Given the description of an element on the screen output the (x, y) to click on. 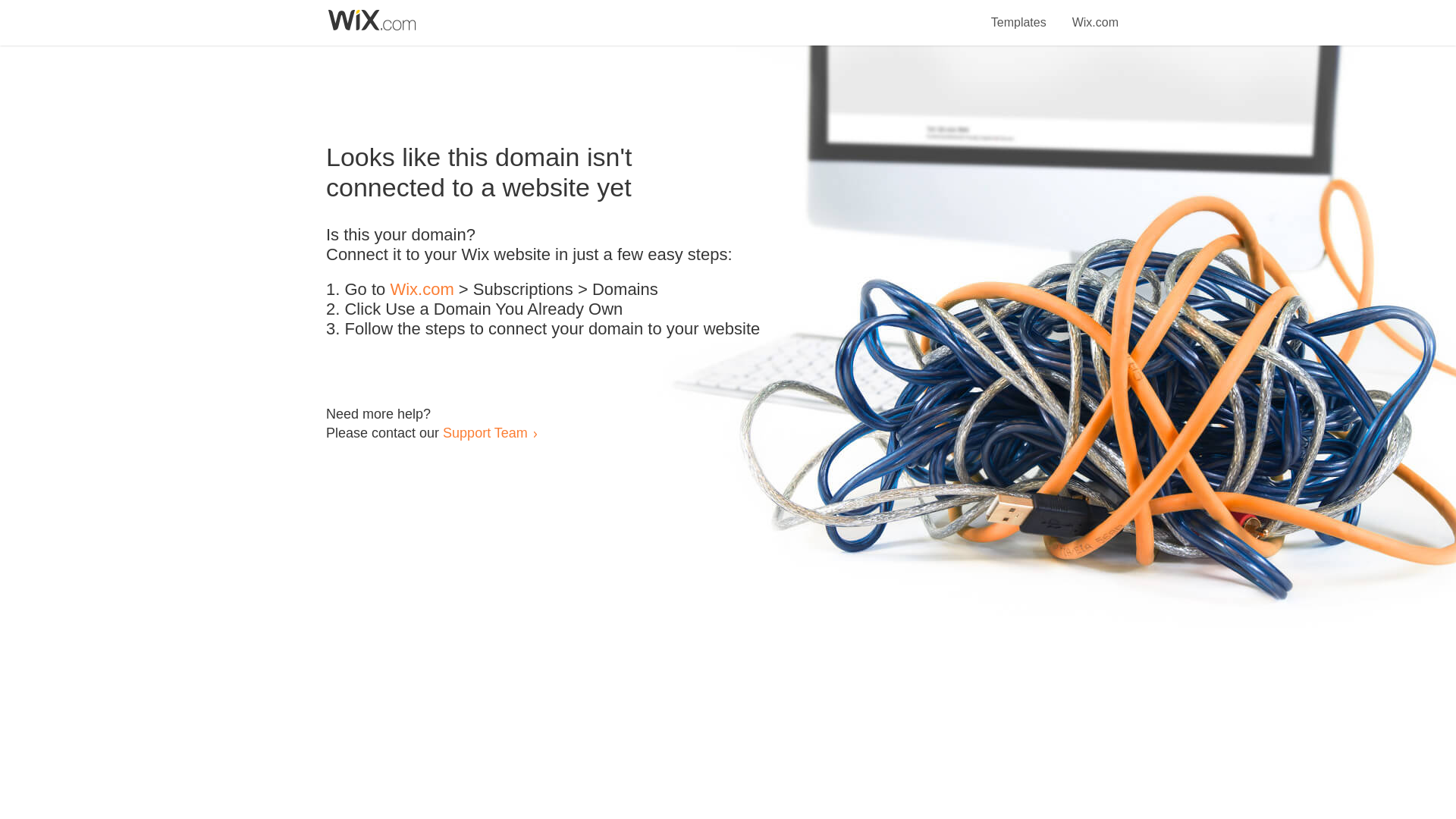
Wix.com (1095, 14)
Templates (1018, 14)
Wix.com (421, 289)
Support Team (484, 432)
